Given the description of an element on the screen output the (x, y) to click on. 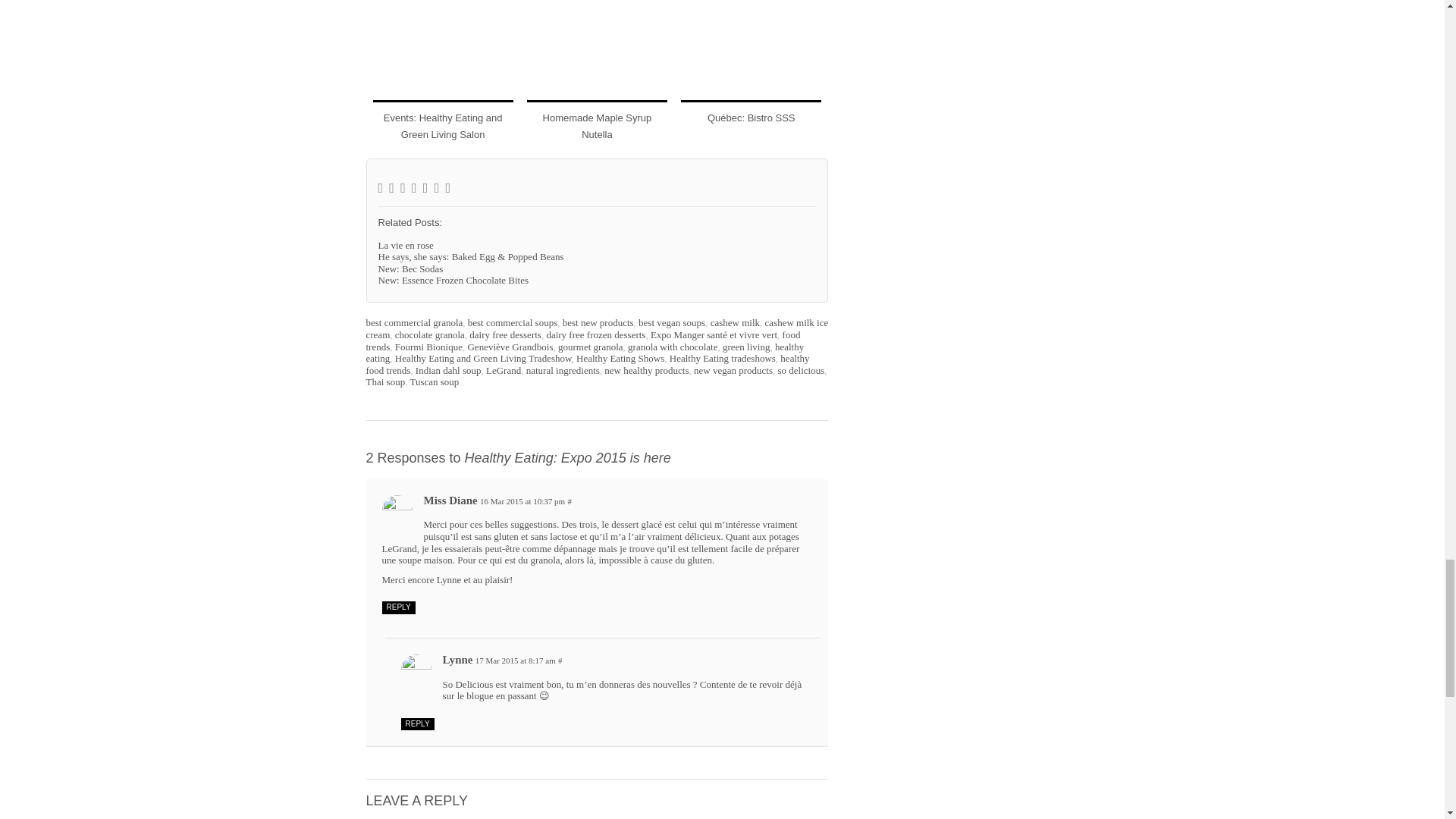
Events: Healthy Eating and Green Living Salon (443, 126)
